Given the description of an element on the screen output the (x, y) to click on. 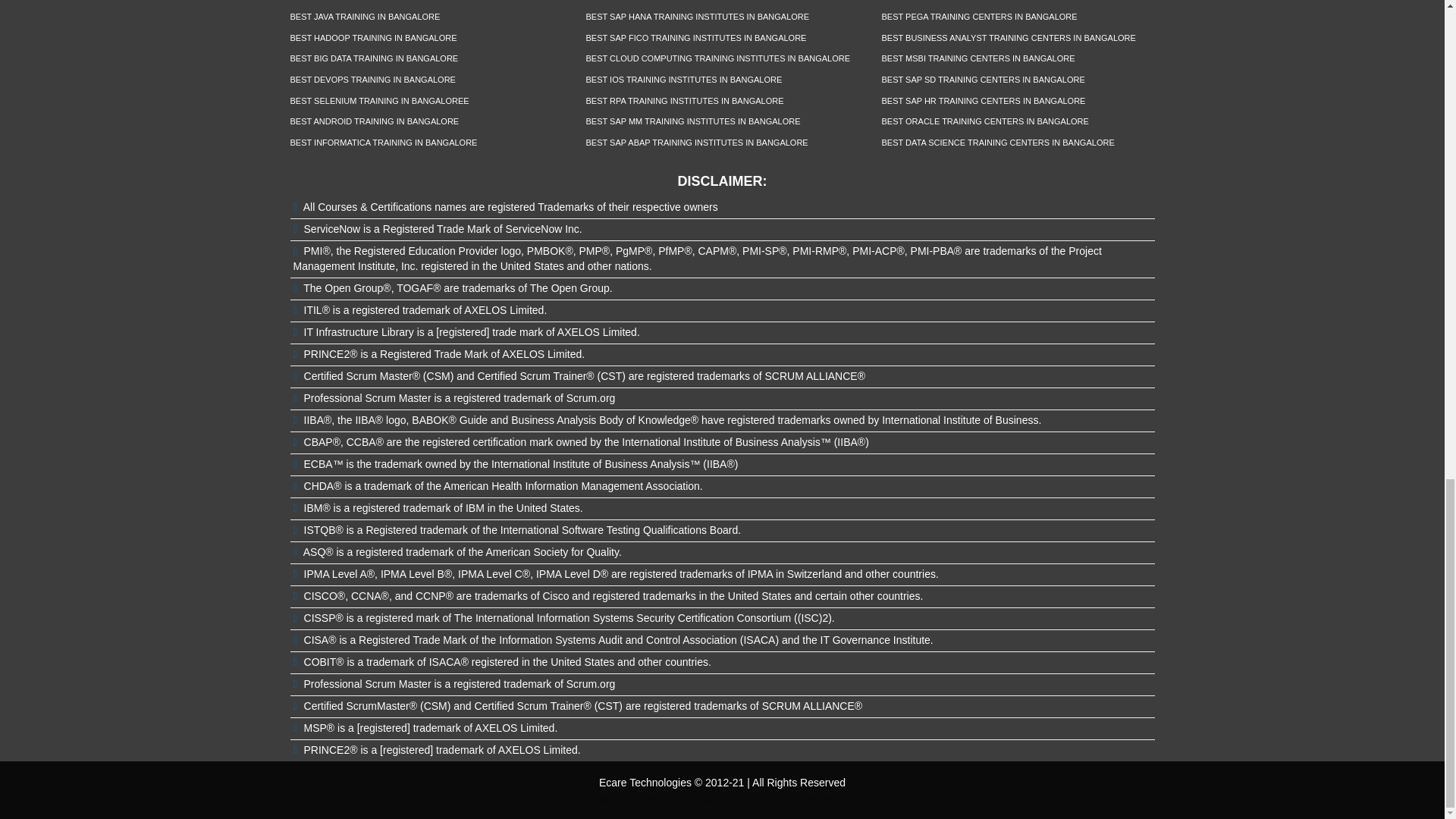
BEST HADOOP TRAINING IN BANGALORE (373, 37)
BEST DEVOPS TRAINING IN BANGALORE (371, 79)
BEST JAVA TRAINING IN BANGALORE (364, 16)
BEST BIG DATA TRAINING IN BANGALORE (373, 58)
